Given the description of an element on the screen output the (x, y) to click on. 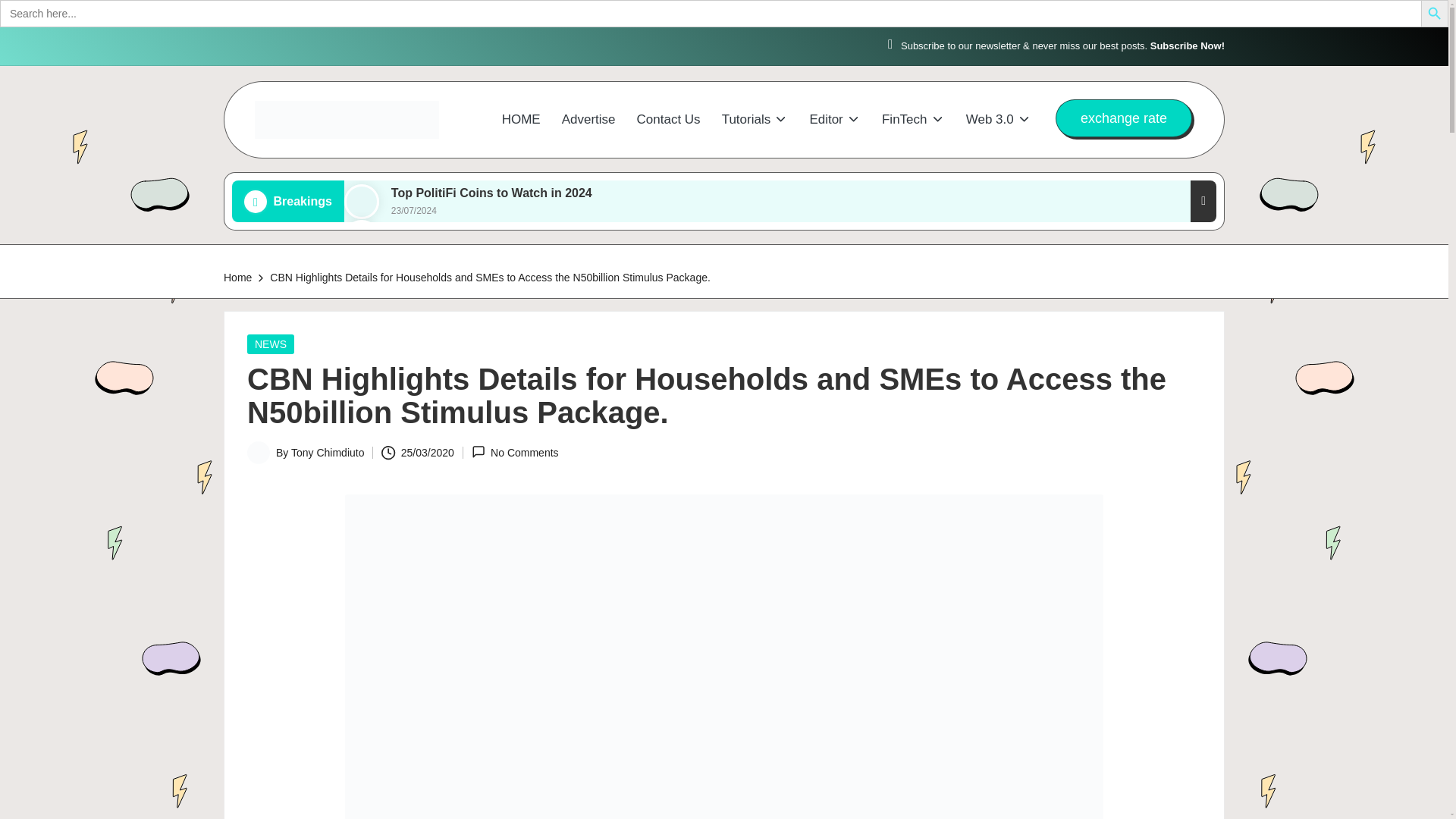
Subscribe Now! (1187, 46)
HOME (521, 119)
Contact Us (668, 119)
Advertise (588, 119)
View all posts by Tony Chimdiuto (328, 452)
Tutorials (755, 119)
